Given the description of an element on the screen output the (x, y) to click on. 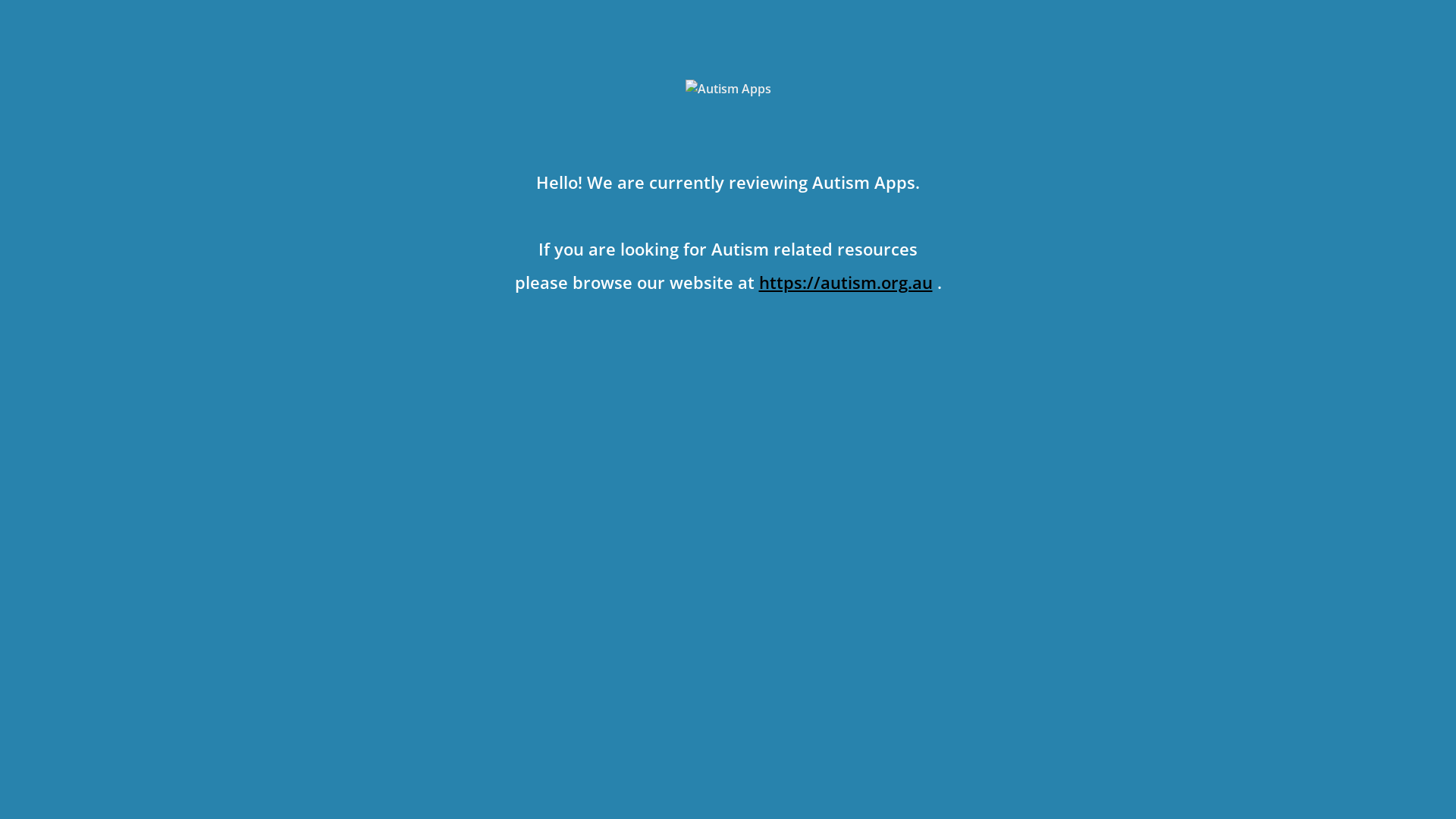
https://autism.org.au Element type: text (844, 281)
Autism Apps  Element type: hover (728, 88)
